Given the description of an element on the screen output the (x, y) to click on. 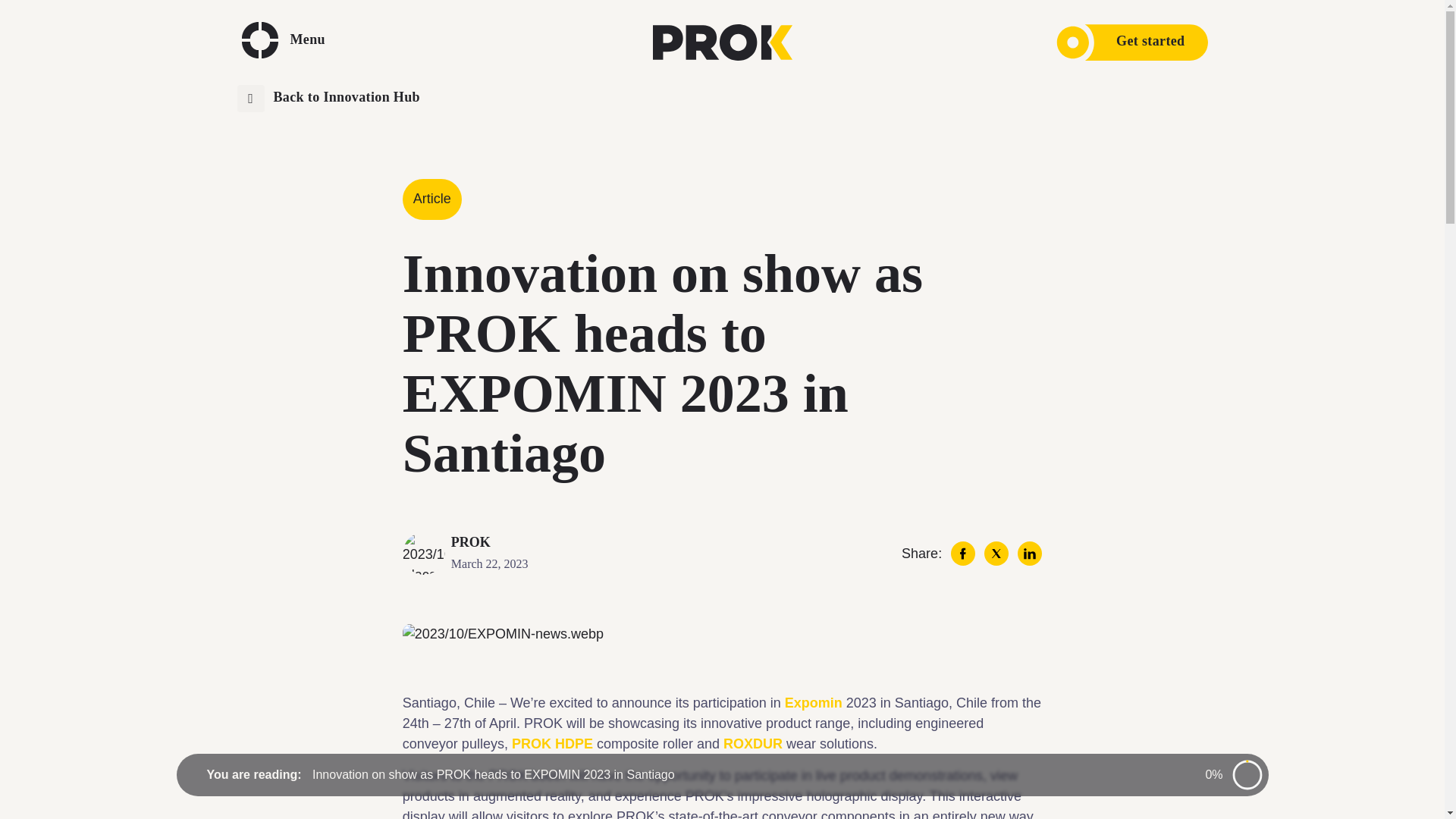
Facebook (962, 553)
Article (432, 199)
PROK HDPE (552, 743)
Back to Innovation Hub (327, 98)
Twitter (996, 553)
Expomin (813, 702)
ROXDUR (753, 743)
Menu (284, 39)
LinkedIn (1029, 553)
